Given the description of an element on the screen output the (x, y) to click on. 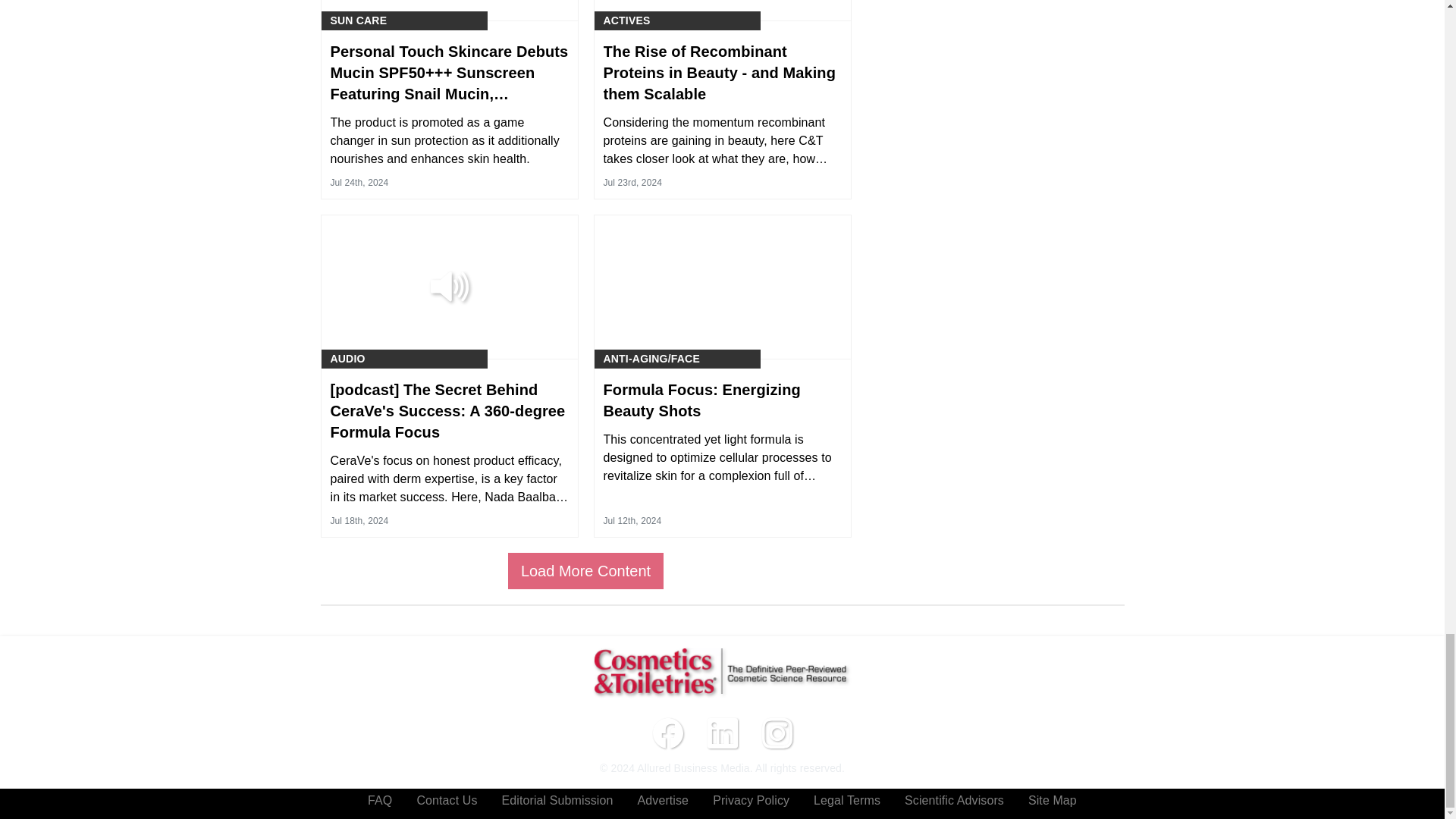
LinkedIn icon (721, 733)
Instagram icon (776, 733)
Facebook icon (667, 733)
